Given the description of an element on the screen output the (x, y) to click on. 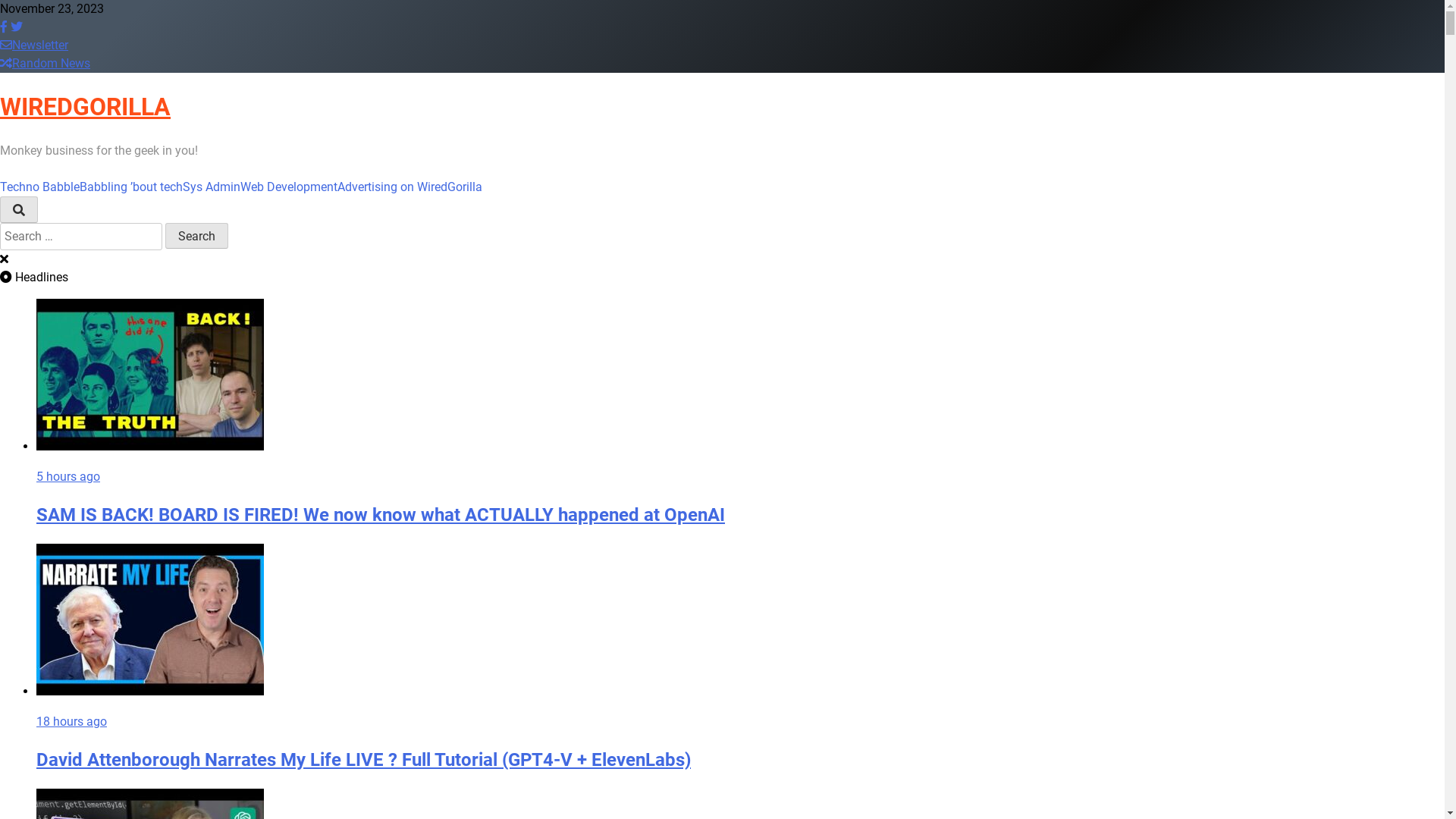
5 hours ago Element type: text (68, 476)
WIREDGORILLA Element type: text (85, 106)
Sys Admin Element type: text (211, 187)
18 hours ago Element type: text (71, 721)
Web Development Element type: text (288, 187)
Search Element type: text (196, 235)
Advertising on WiredGorilla Element type: text (409, 187)
Newsletter Element type: text (34, 44)
Random News Element type: text (45, 63)
